Given the description of an element on the screen output the (x, y) to click on. 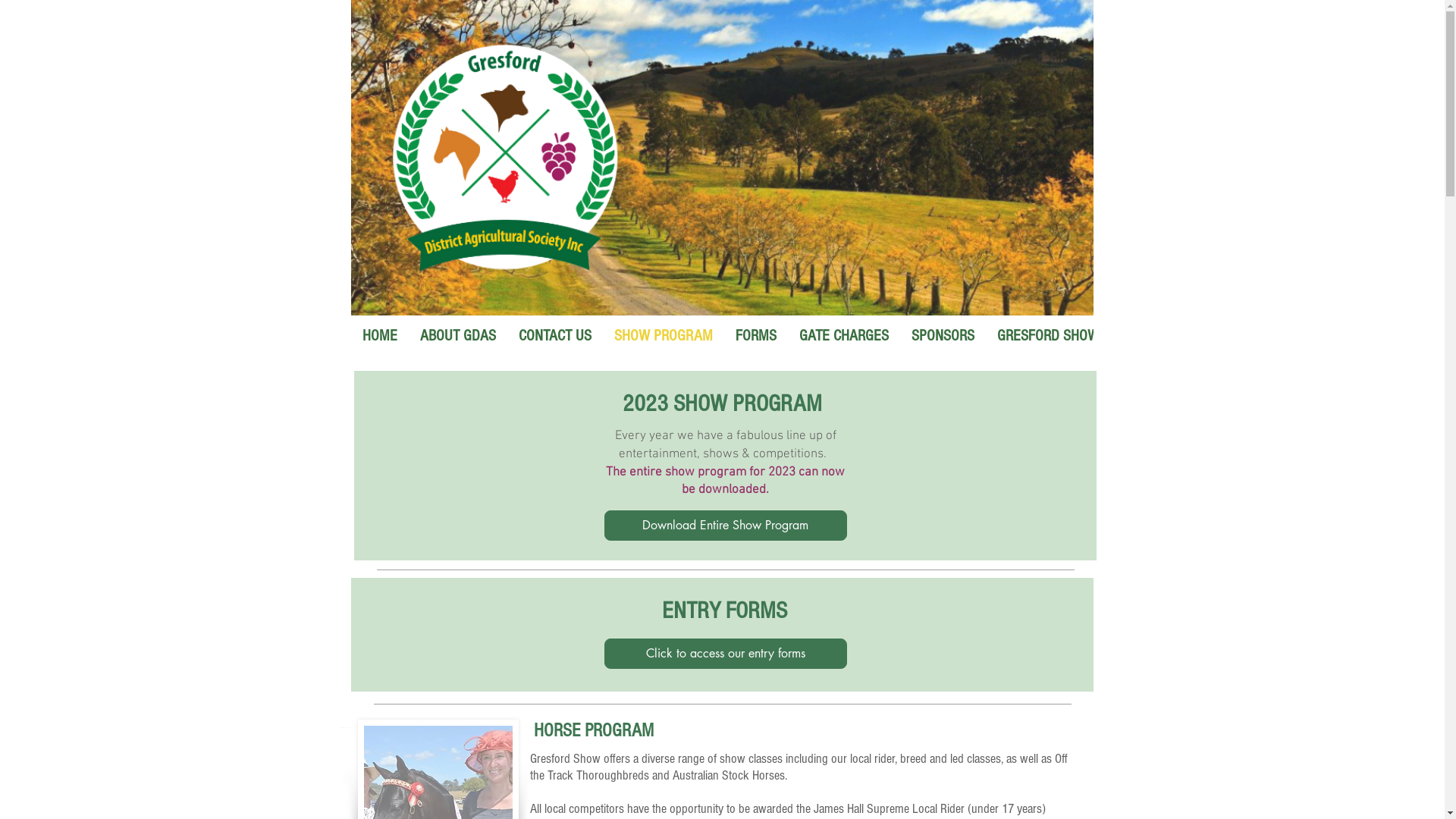
ABOUT GDAS Element type: text (456, 342)
GATE CHARGES Element type: text (843, 342)
SHOW PROGRAM Element type: text (662, 342)
SPONSORS Element type: text (942, 342)
CONTACT US Element type: text (554, 342)
HOME Element type: text (378, 342)
FORMS Element type: text (755, 342)
Click to access our entry forms Element type: text (724, 653)
Download Entire Show Program Element type: text (724, 525)
GRESFORD SHOW YOUNG WOMEN Element type: text (1094, 342)
